Given the description of an element on the screen output the (x, y) to click on. 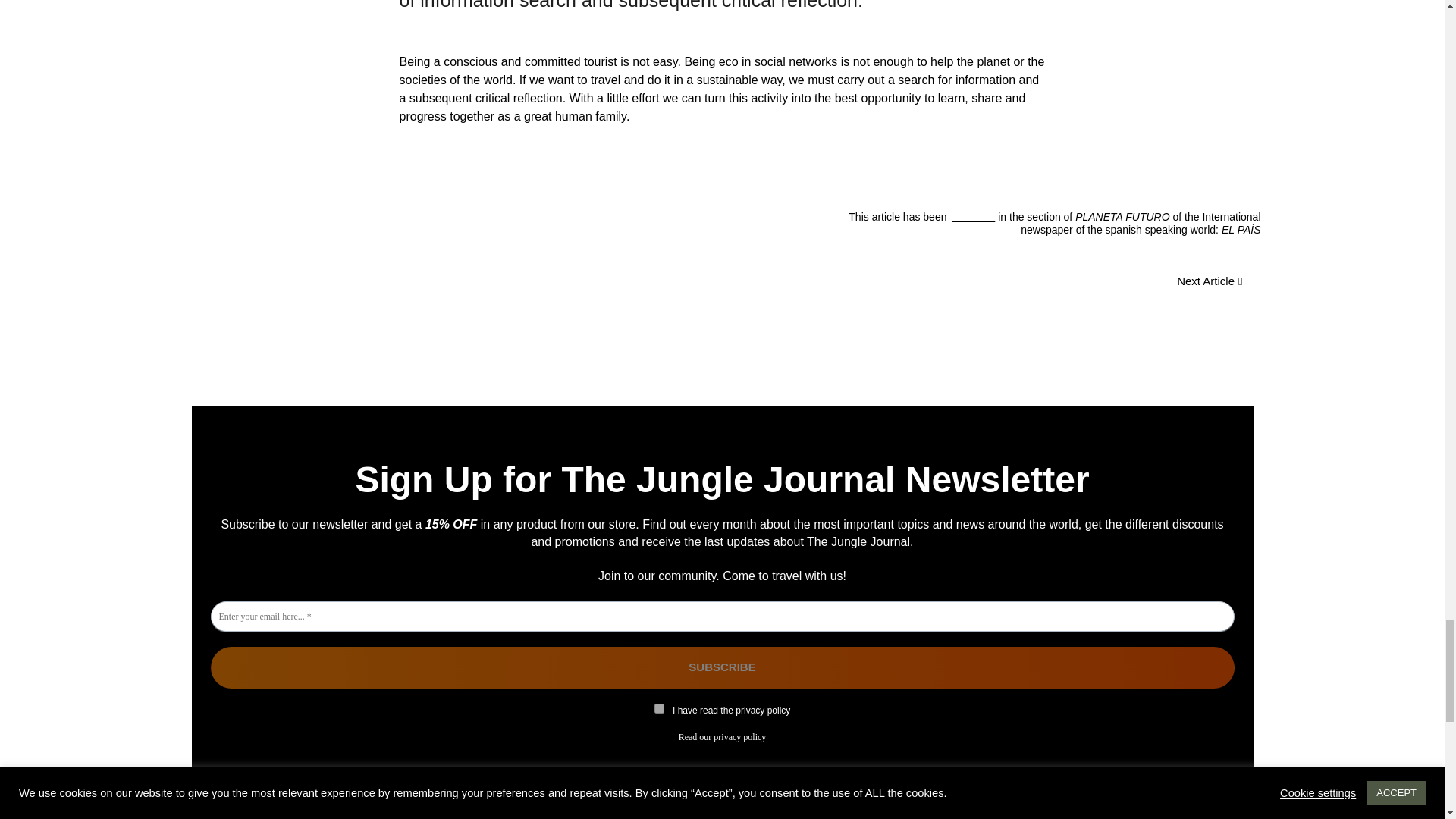
published (971, 216)
Next Article (1209, 281)
SUBSCRIBE (722, 667)
privacy policy (739, 737)
1 (658, 708)
Enter your email here... (722, 616)
SUBSCRIBE (722, 667)
